Given the description of an element on the screen output the (x, y) to click on. 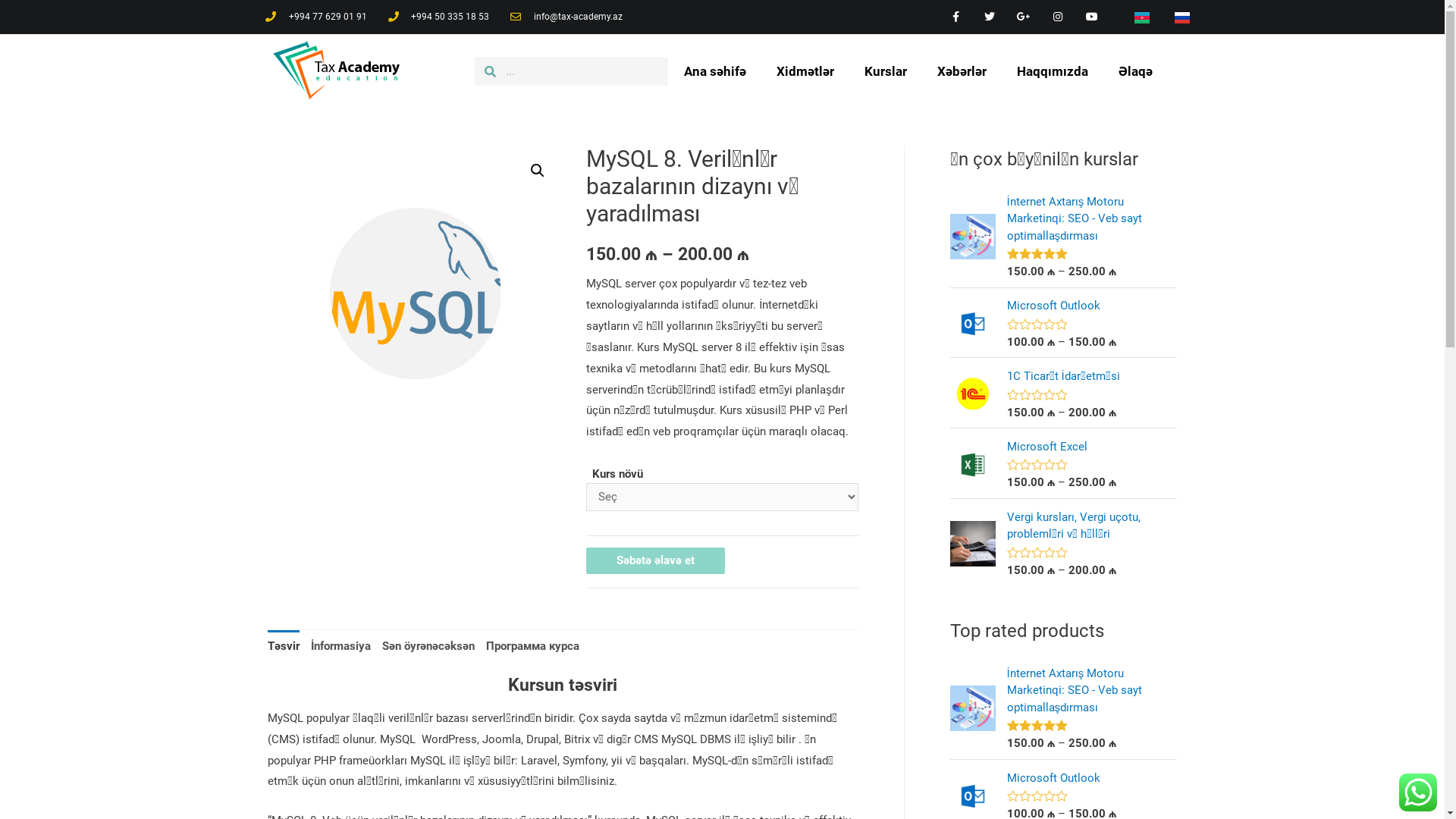
Search Element type: hover (581, 70)
Microsoft Excel Element type: text (1091, 446)
WhatsApp Element type: hover (1418, 792)
Microsoft Outlook Element type: text (1091, 777)
Microsoft Outlook Element type: text (1091, 305)
mysql-300x300 Element type: hover (414, 293)
Kurslar Element type: text (885, 70)
